Given the description of an element on the screen output the (x, y) to click on. 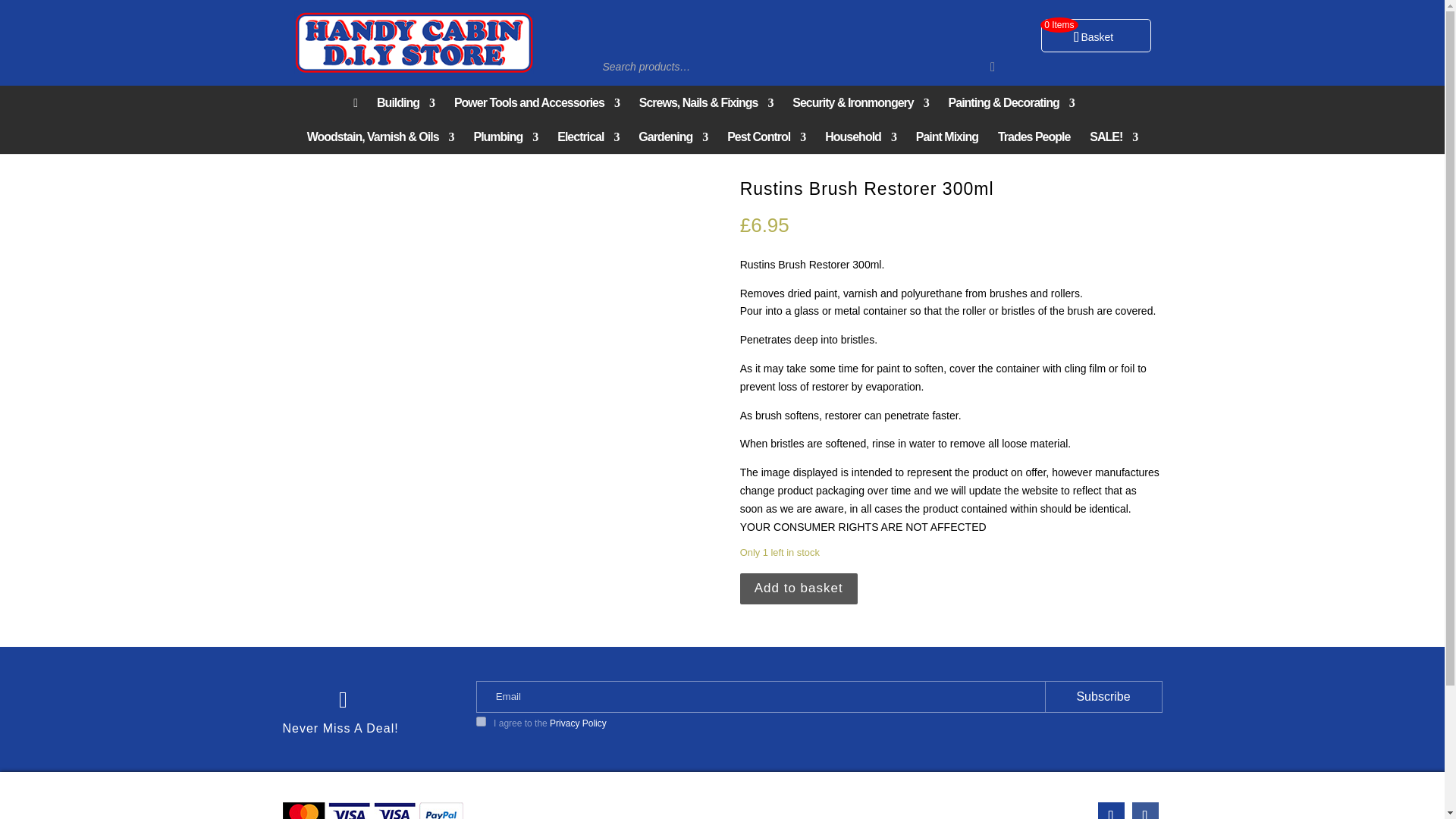
Building (405, 102)
0 Items (1095, 35)
Power Tools and Accessories (537, 102)
true (481, 721)
Subscribe (1103, 696)
Follow on Facebook (1144, 810)
location (1110, 810)
